Given the description of an element on the screen output the (x, y) to click on. 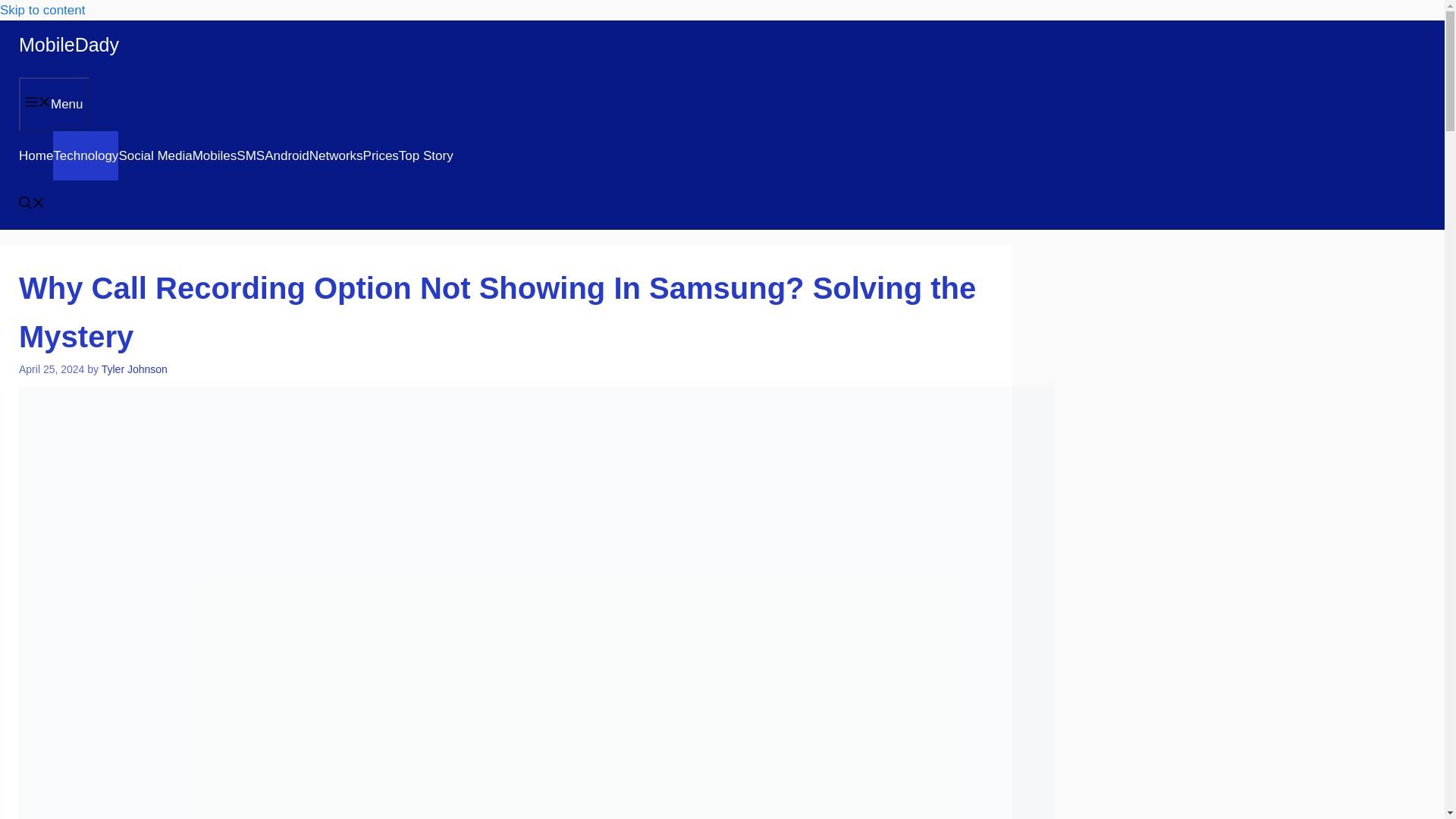
Skip to content (42, 10)
Mobiles (214, 155)
Menu (53, 103)
MobileDady (68, 44)
Technology (84, 155)
Social Media (154, 155)
View all posts by Tyler Johnson (134, 369)
Skip to content (42, 10)
Tyler Johnson (134, 369)
Top Story (425, 155)
